Given the description of an element on the screen output the (x, y) to click on. 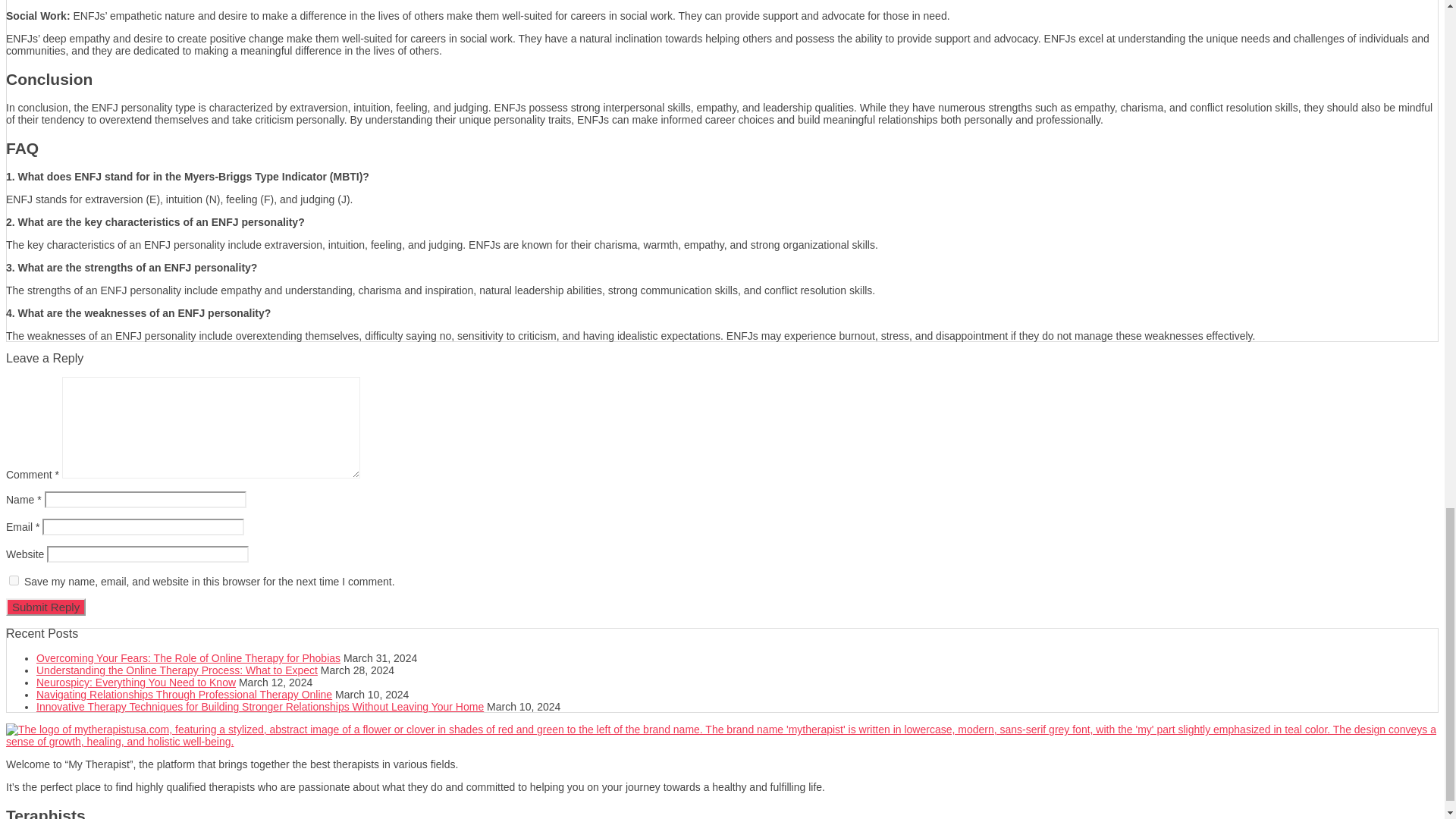
Submit Reply (45, 606)
Navigating Relationships Through Professional Therapy Online (183, 694)
yes (13, 580)
Understanding the Online Therapy Process: What to Expect (176, 670)
Neurospicy: Everything You Need to Know (135, 682)
Submit Reply (45, 606)
